Given the description of an element on the screen output the (x, y) to click on. 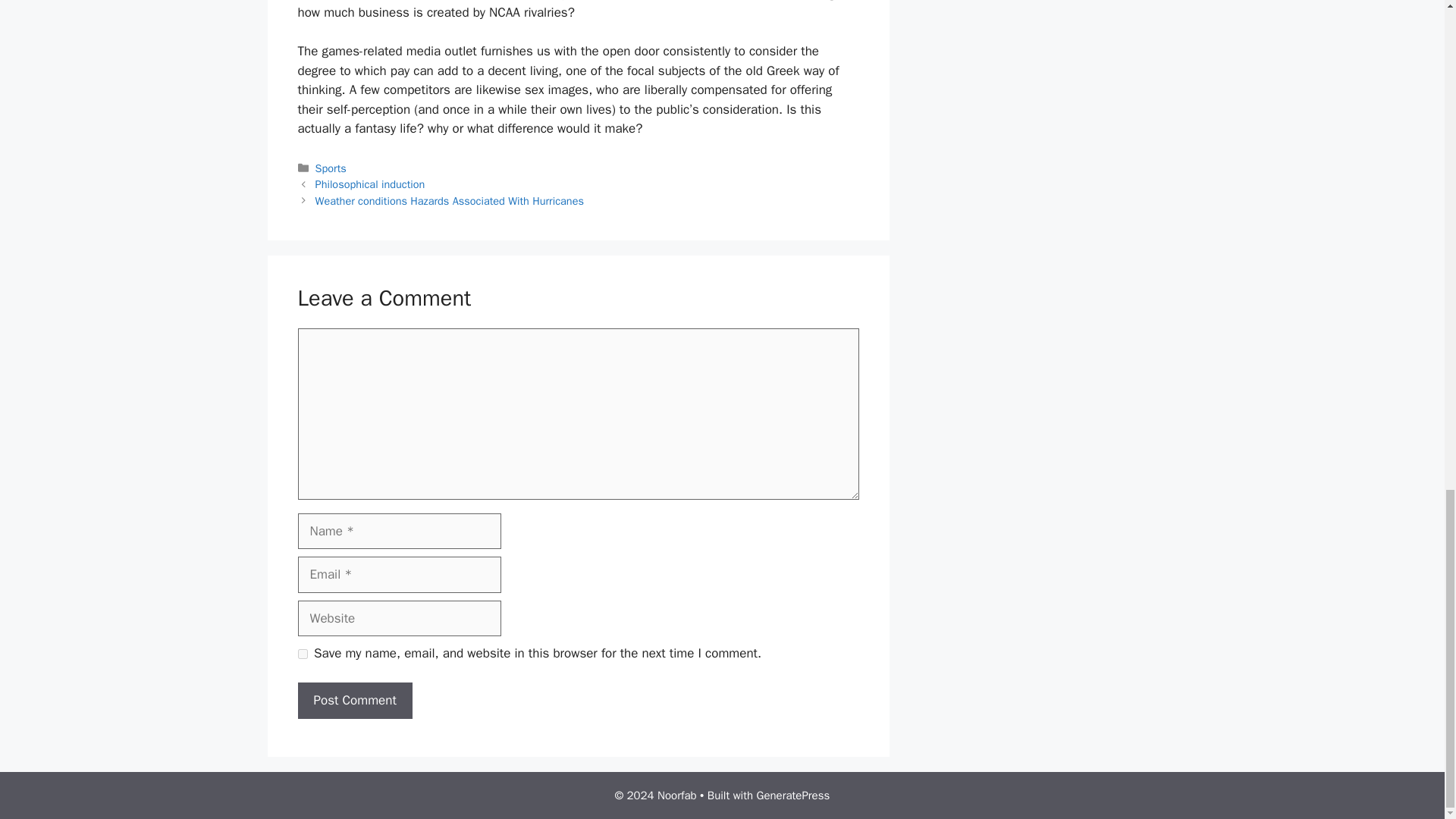
Post Comment (354, 700)
Philosophical induction (370, 183)
Sports (330, 168)
Post Comment (354, 700)
yes (302, 654)
Weather conditions Hazards Associated With Hurricanes (449, 201)
GeneratePress (793, 795)
